Given the description of an element on the screen output the (x, y) to click on. 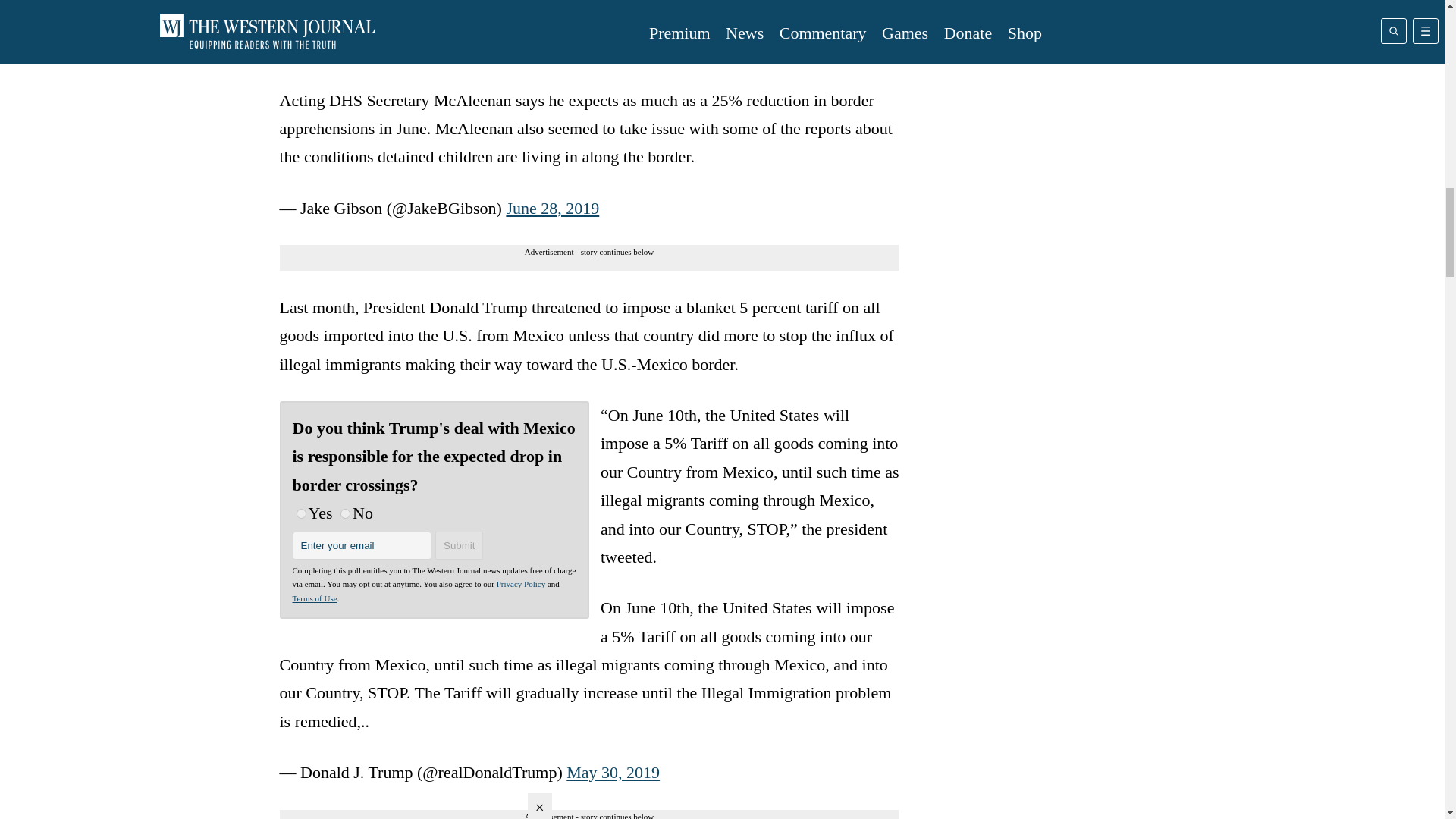
no (345, 513)
yes (300, 513)
Submit (459, 545)
